Given the description of an element on the screen output the (x, y) to click on. 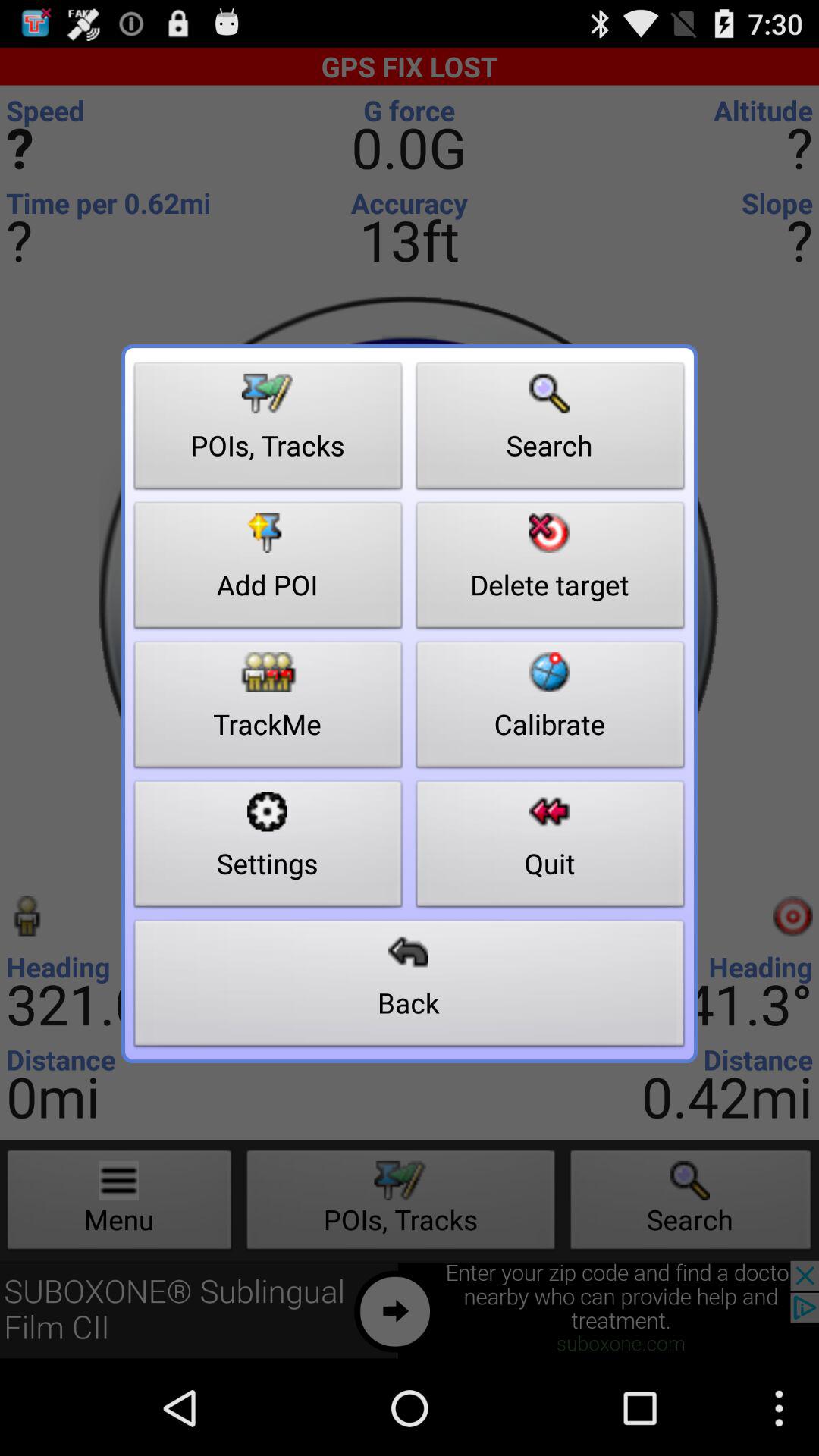
tap the icon at the top right corner (550, 429)
